Given the description of an element on the screen output the (x, y) to click on. 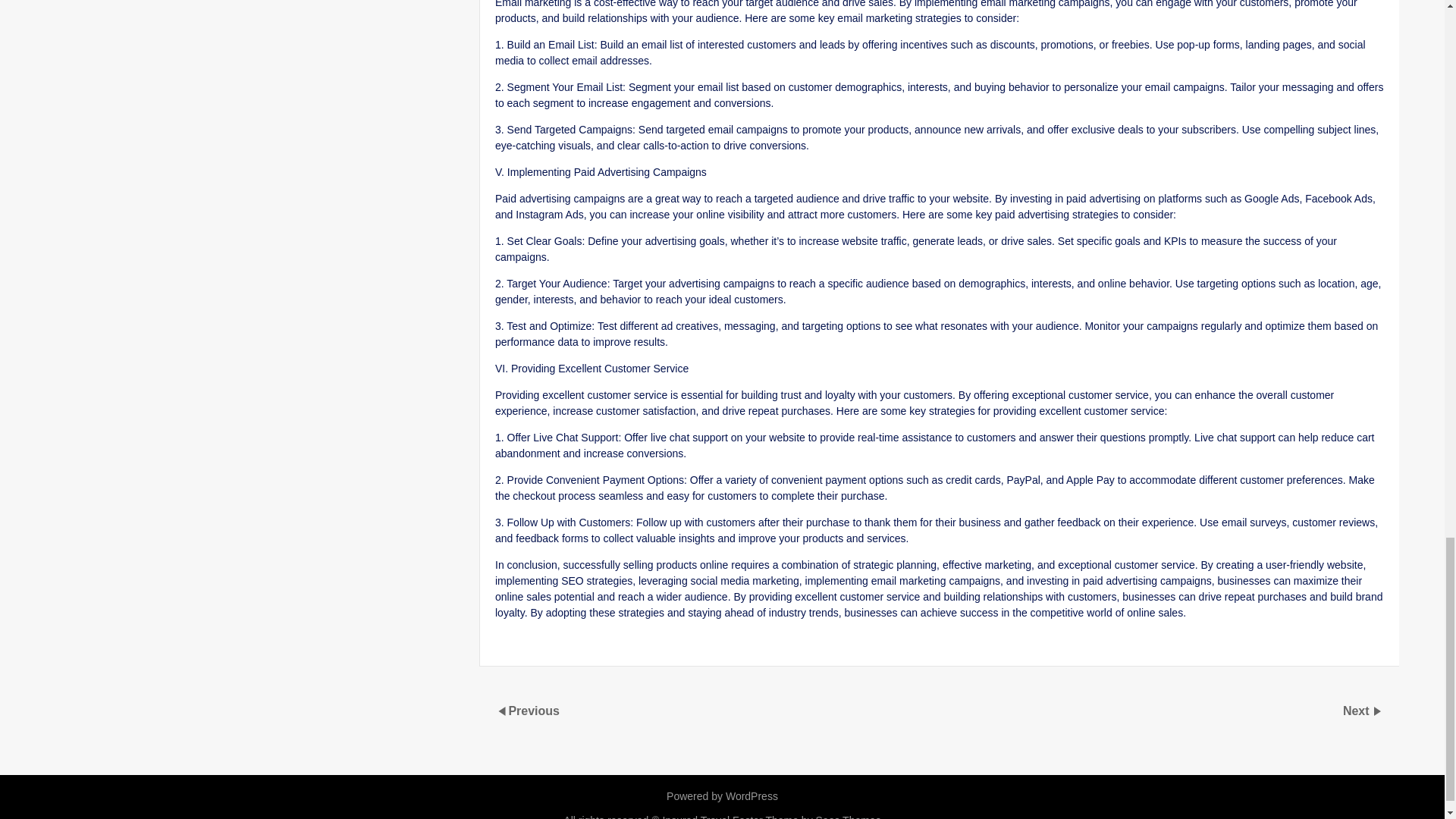
Online (683, 647)
Seos Theme - Faster (806, 816)
Next (1357, 710)
Strategies (856, 647)
Sell (770, 647)
Selling (806, 647)
Products (730, 647)
Successfully (922, 647)
Outlook (532, 647)
Mamah Muda (609, 647)
Previous (533, 710)
